Given the description of an element on the screen output the (x, y) to click on. 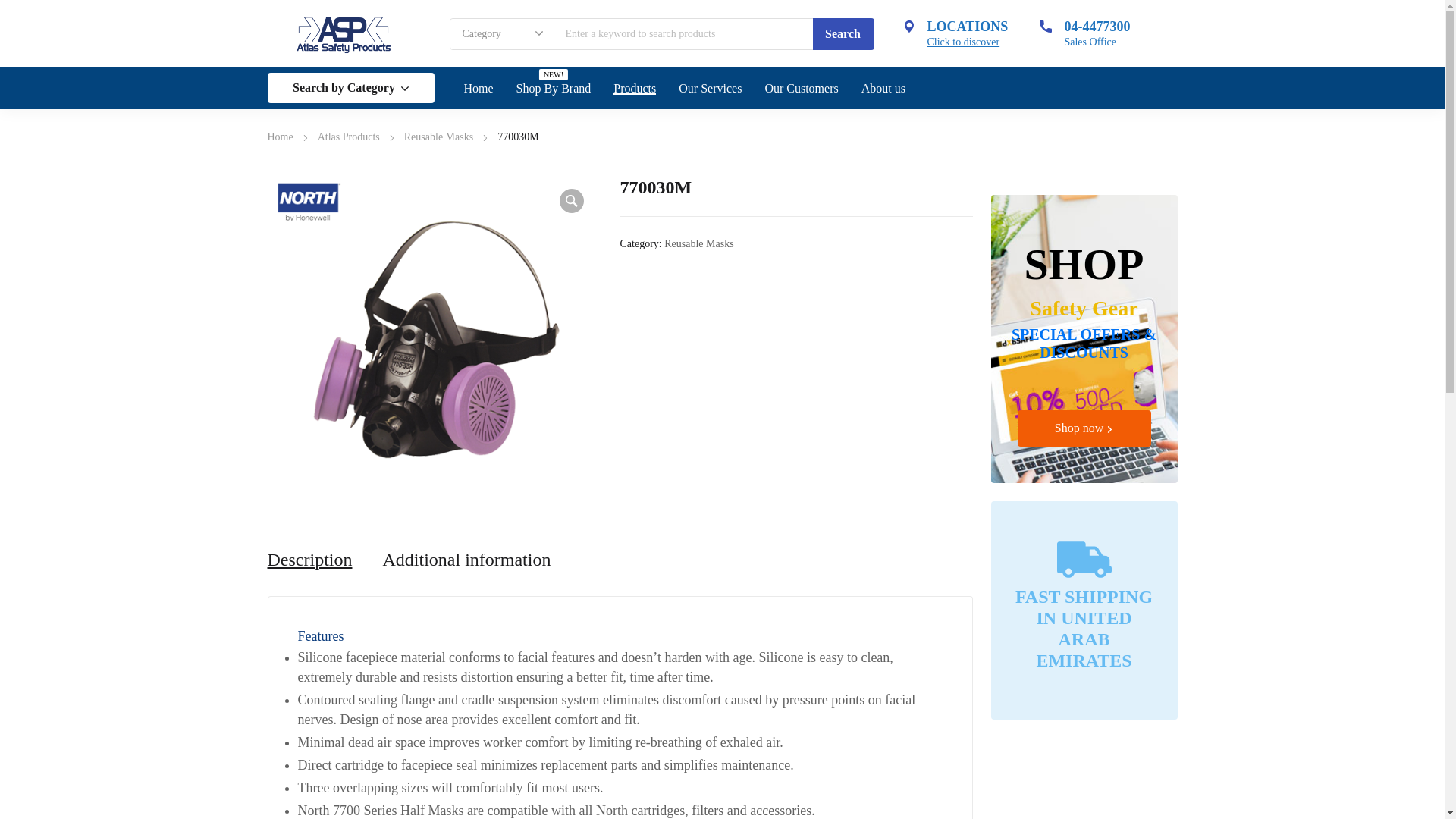
Search by Category (349, 87)
Atlas Safety Products (342, 33)
Search (842, 33)
Search (842, 33)
